Given the description of an element on the screen output the (x, y) to click on. 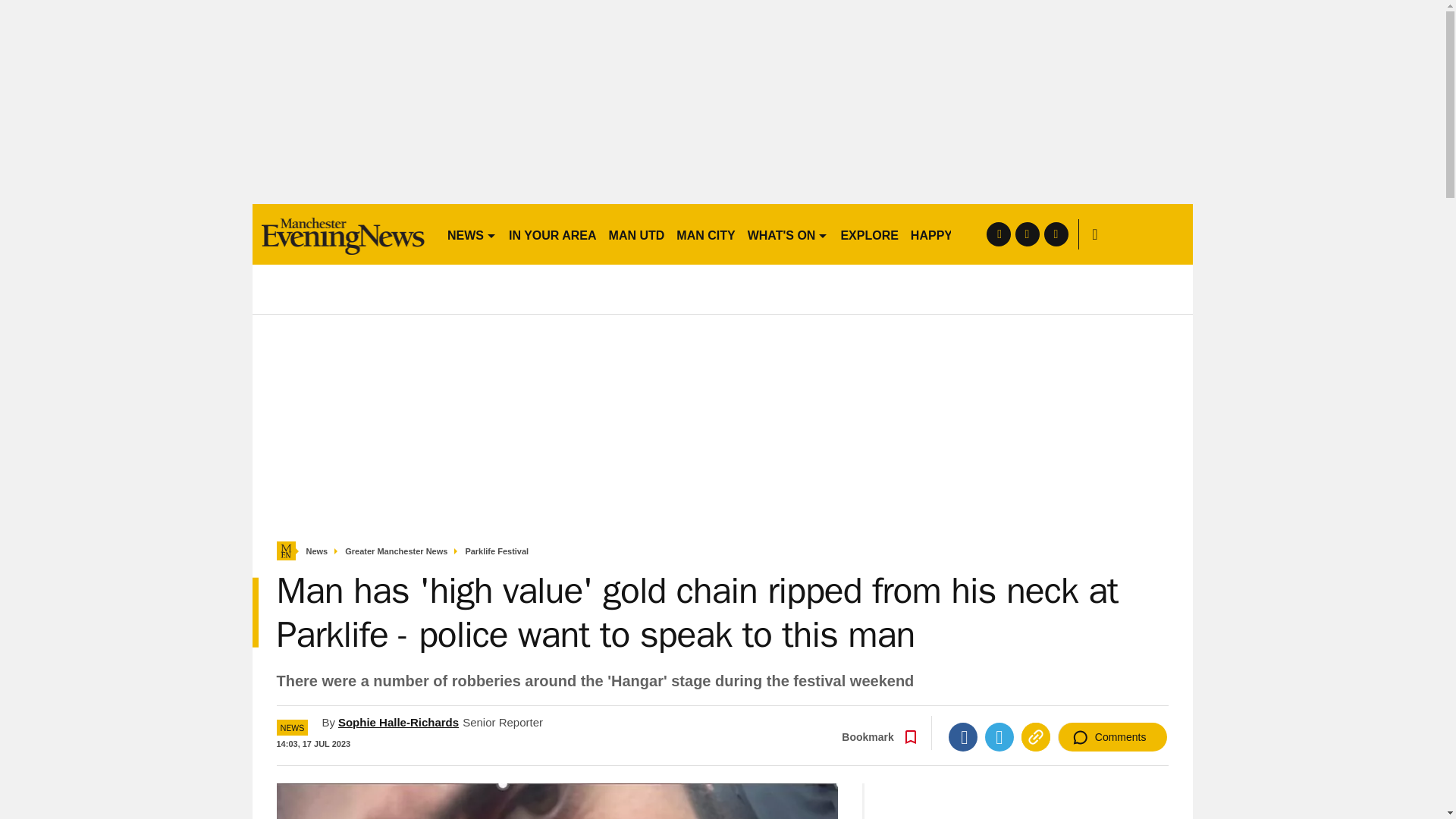
Twitter (999, 736)
WHAT'S ON (787, 233)
instagram (1055, 233)
MAN UTD (636, 233)
NEWS (471, 233)
men (342, 233)
Facebook (962, 736)
IN YOUR AREA (552, 233)
MAN CITY (705, 233)
Comments (1112, 736)
